Given the description of an element on the screen output the (x, y) to click on. 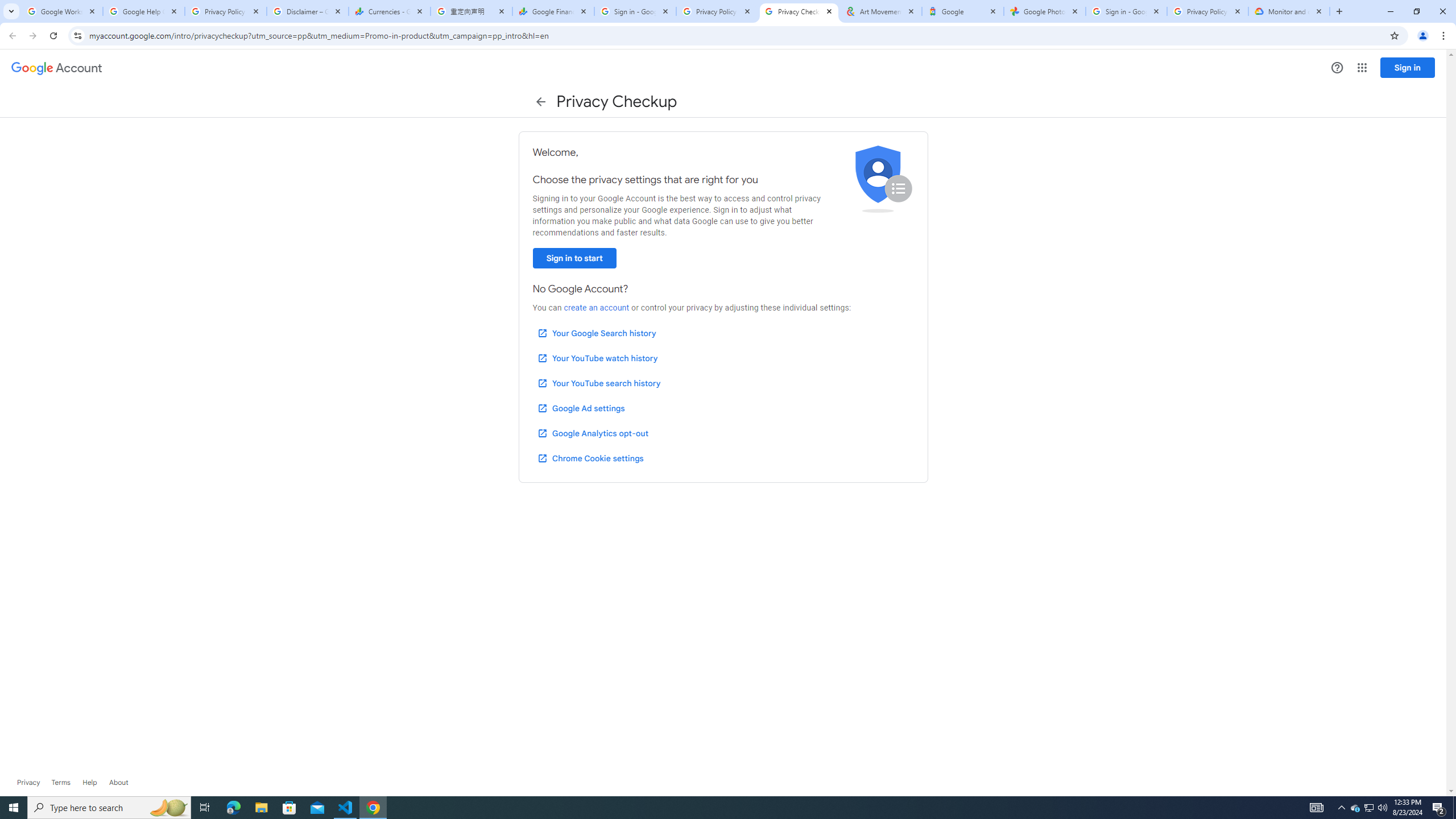
Google Analytics opt-out (592, 433)
Google (963, 11)
Currencies - Google Finance (389, 11)
Sign in - Google Accounts (1126, 11)
Your YouTube watch history (597, 358)
